Given the description of an element on the screen output the (x, y) to click on. 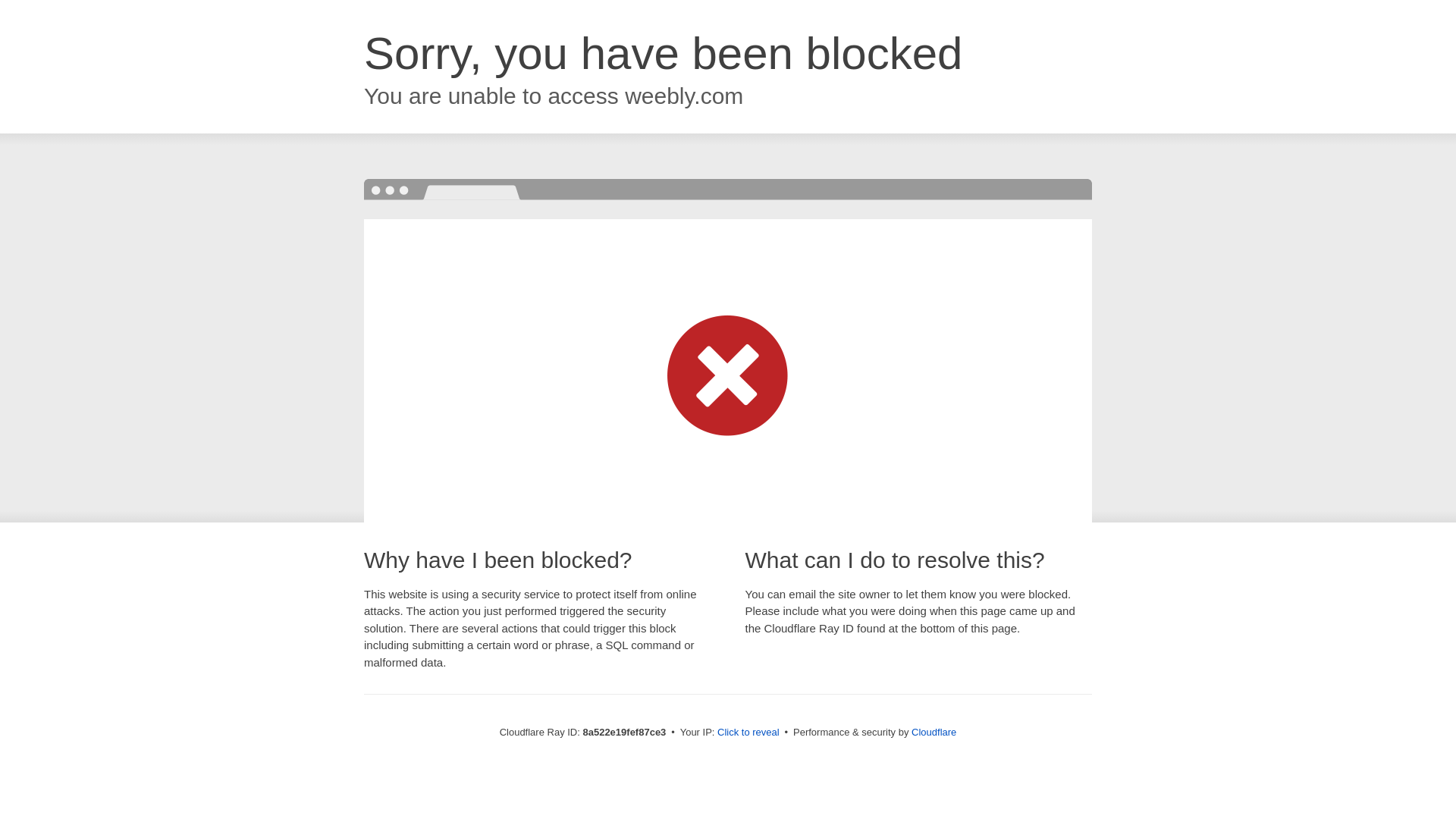
Cloudflare (933, 731)
Click to reveal (747, 732)
